Given the description of an element on the screen output the (x, y) to click on. 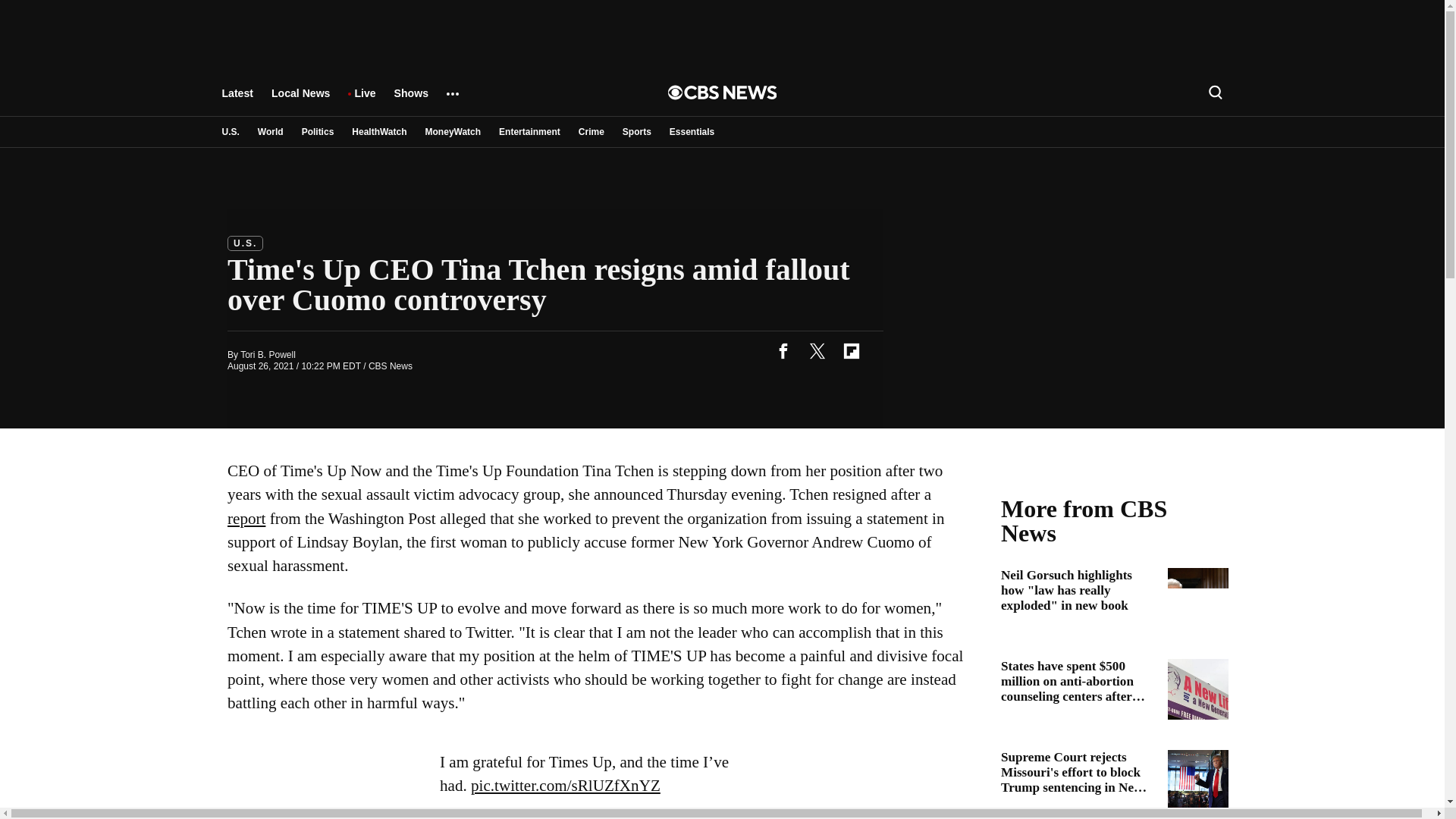
facebook (782, 350)
twitter (816, 350)
Latest (236, 100)
Local News (300, 100)
Live (364, 100)
flipboard (850, 350)
